Given the description of an element on the screen output the (x, y) to click on. 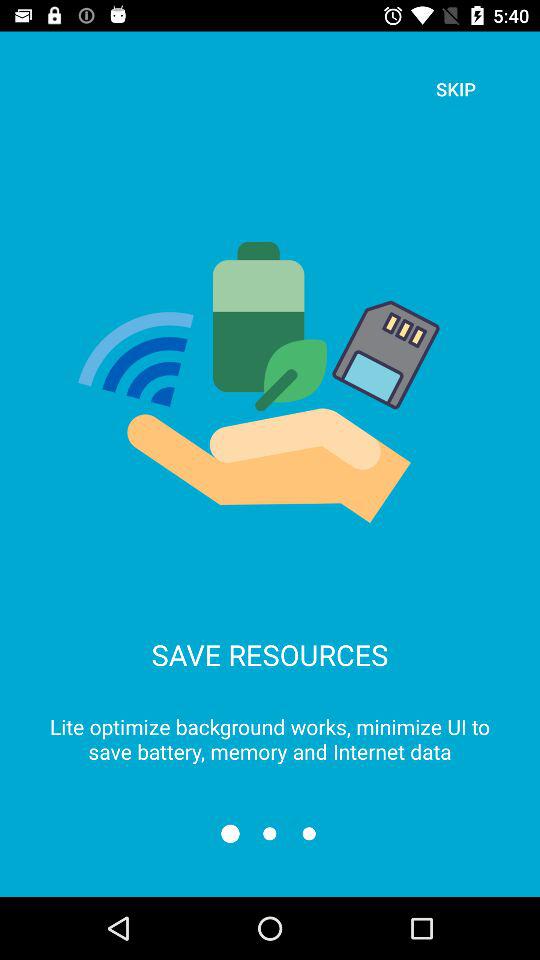
3rd slide (308, 833)
